Given the description of an element on the screen output the (x, y) to click on. 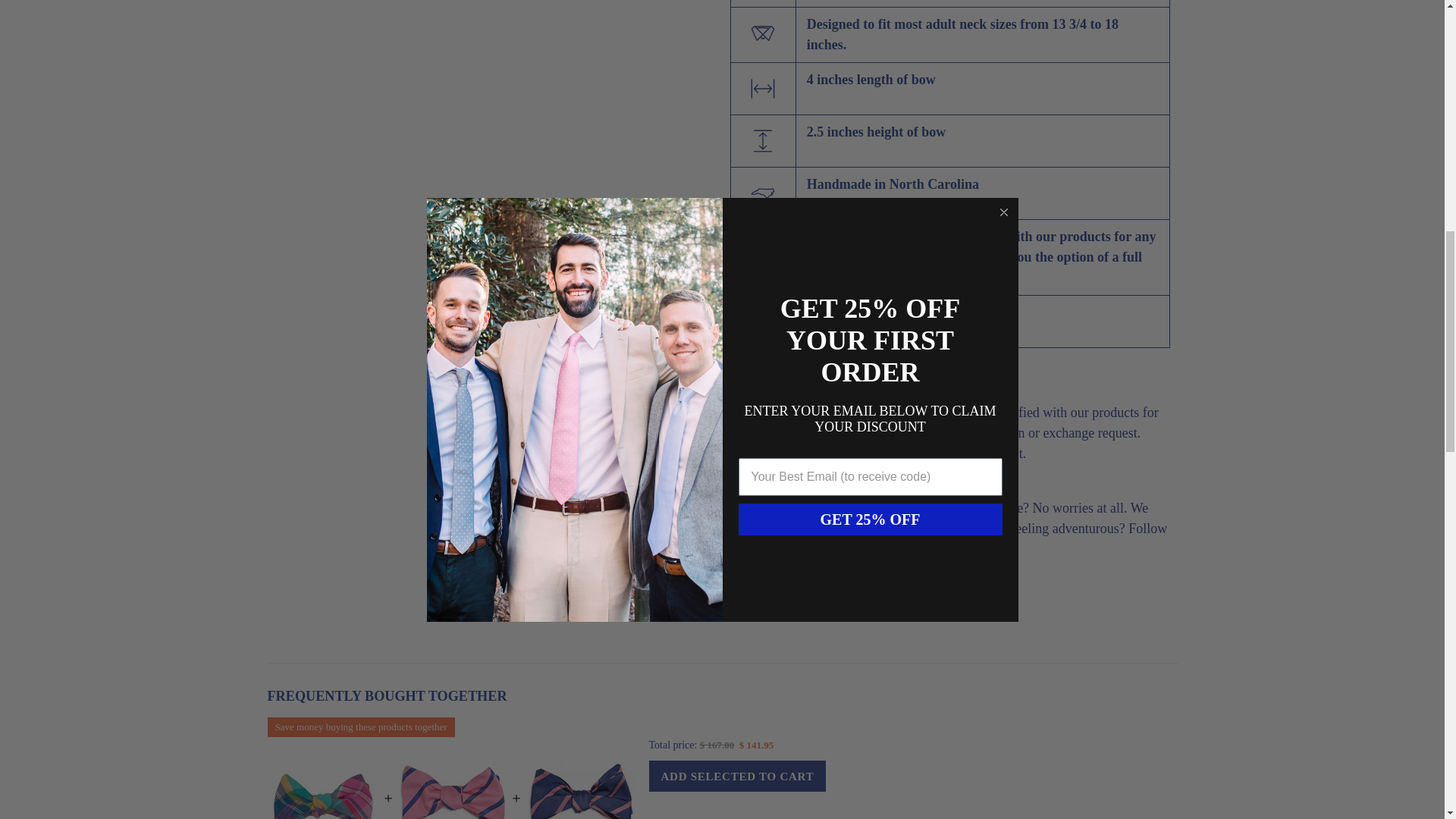
Share this on Pinterest (817, 602)
Email this to a friend (854, 602)
Share this on Facebook (780, 602)
Share this on Twitter (743, 602)
